Given the description of an element on the screen output the (x, y) to click on. 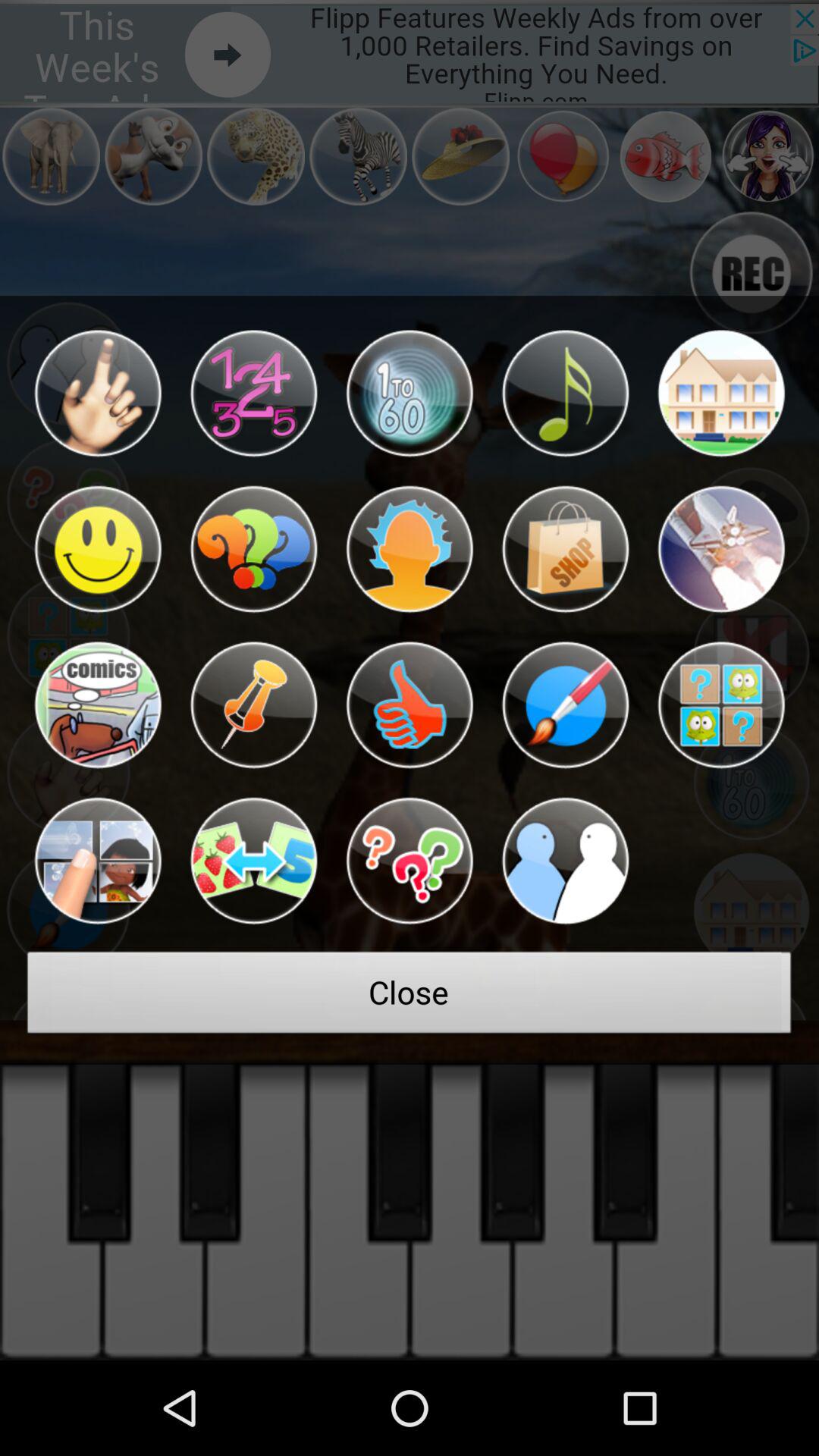
game option numbers (409, 393)
